Given the description of an element on the screen output the (x, y) to click on. 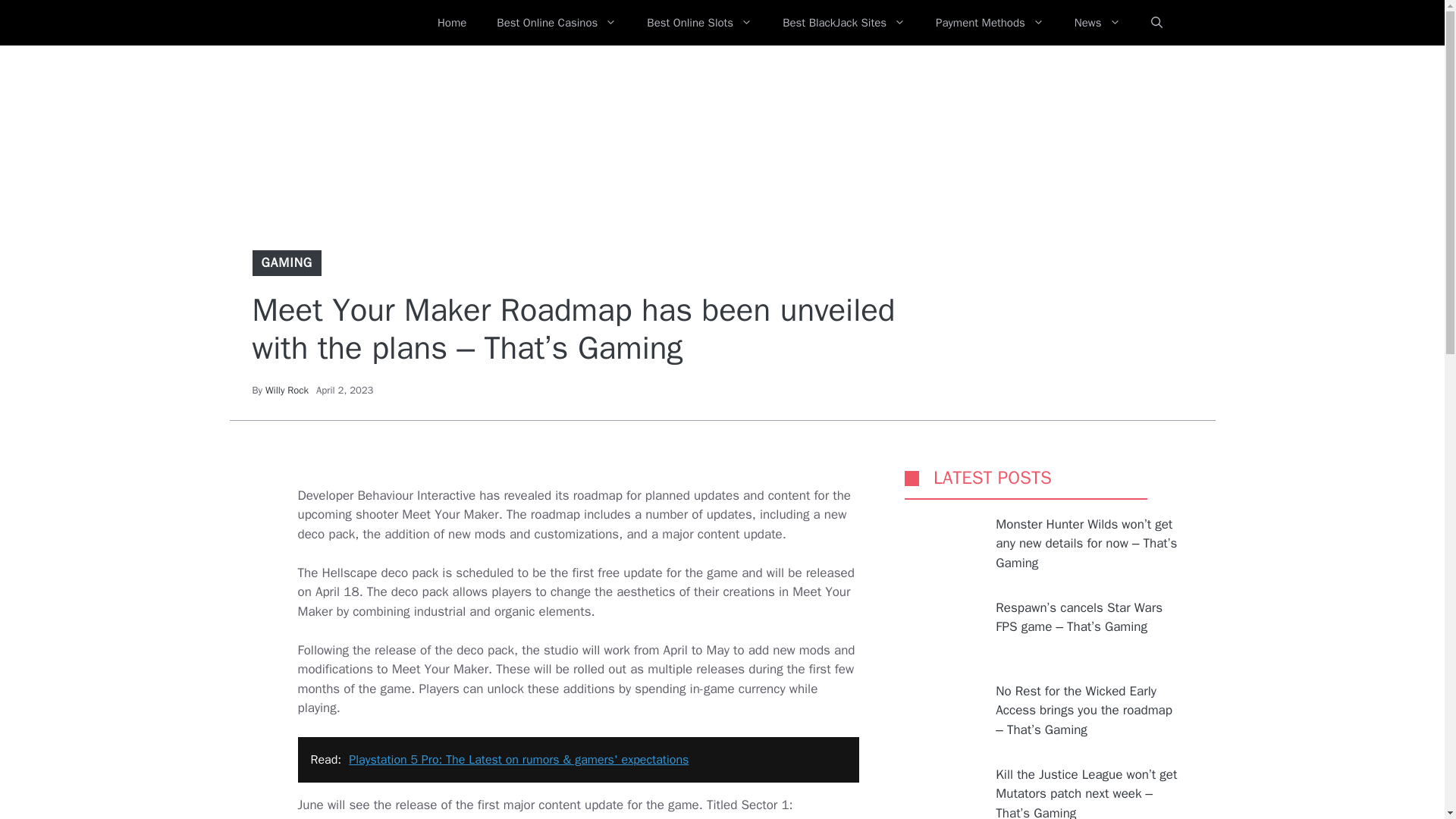
SORRY, YOUR BROWSER DOES NOT SUPPORT INLINE SVG. (911, 477)
Best Online Slots (699, 22)
Payment Methods (989, 22)
GAMING (286, 262)
News (1097, 22)
Best Online Casinos (556, 22)
Best BlackJack Sites (843, 22)
Willy Rock (286, 390)
Home (451, 22)
Royals Blue (331, 22)
